Given the description of an element on the screen output the (x, y) to click on. 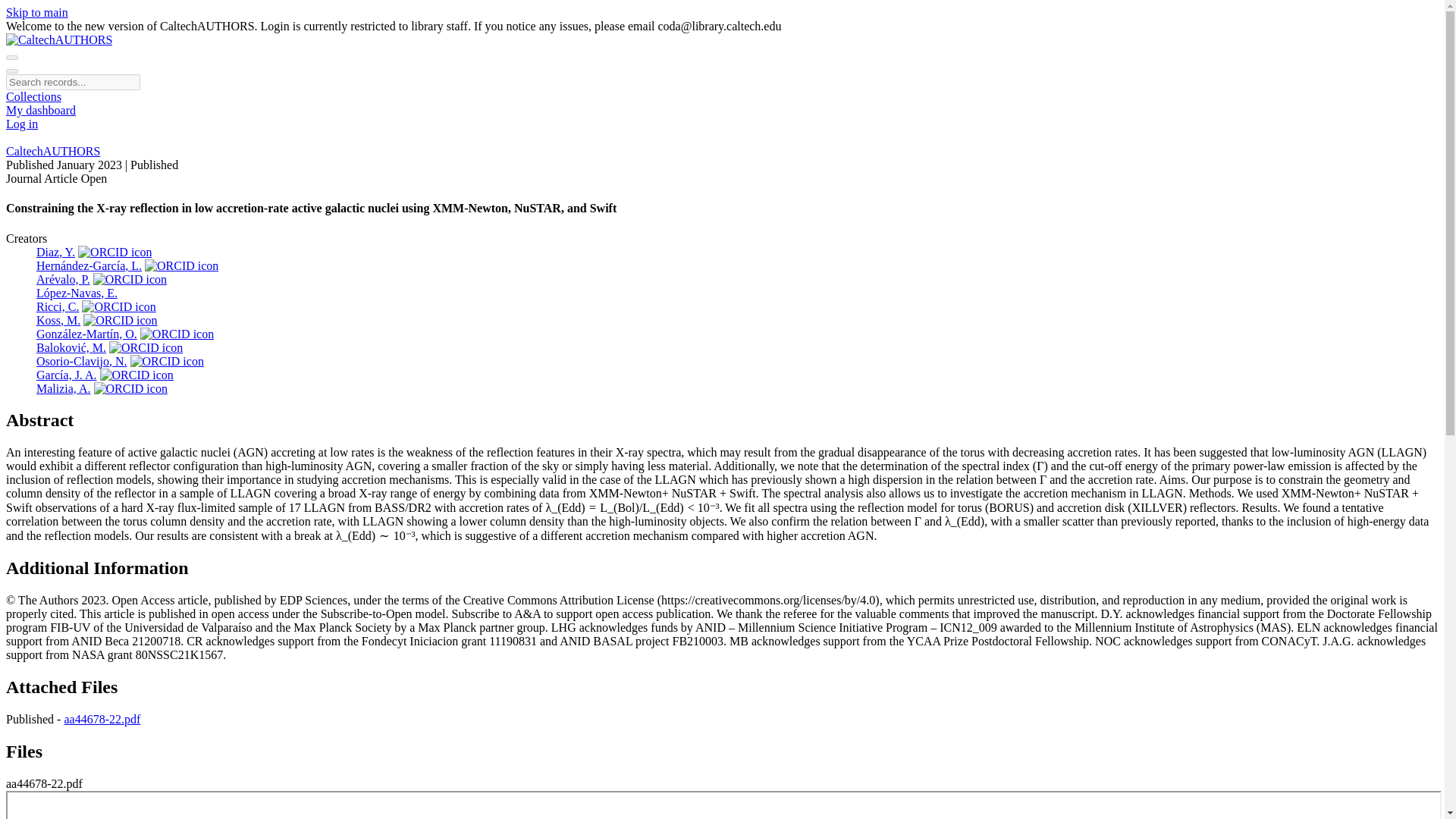
Ricci, C.'s ORCID profile (118, 306)
Osorio-Clavijo, N.'s ORCID profile (167, 360)
Koss, M. (58, 319)
Log in (21, 123)
Diaz, Y. (55, 251)
Access status (94, 178)
Collections (33, 96)
Publication date (65, 164)
Malizia, A. (63, 388)
Skip to main (36, 11)
Diaz, Y.'s ORCID profile (114, 251)
Osorio-Clavijo, N. (82, 360)
CaltechAUTHORS (52, 151)
My dashboard (40, 110)
Ricci, C. (57, 306)
